Given the description of an element on the screen output the (x, y) to click on. 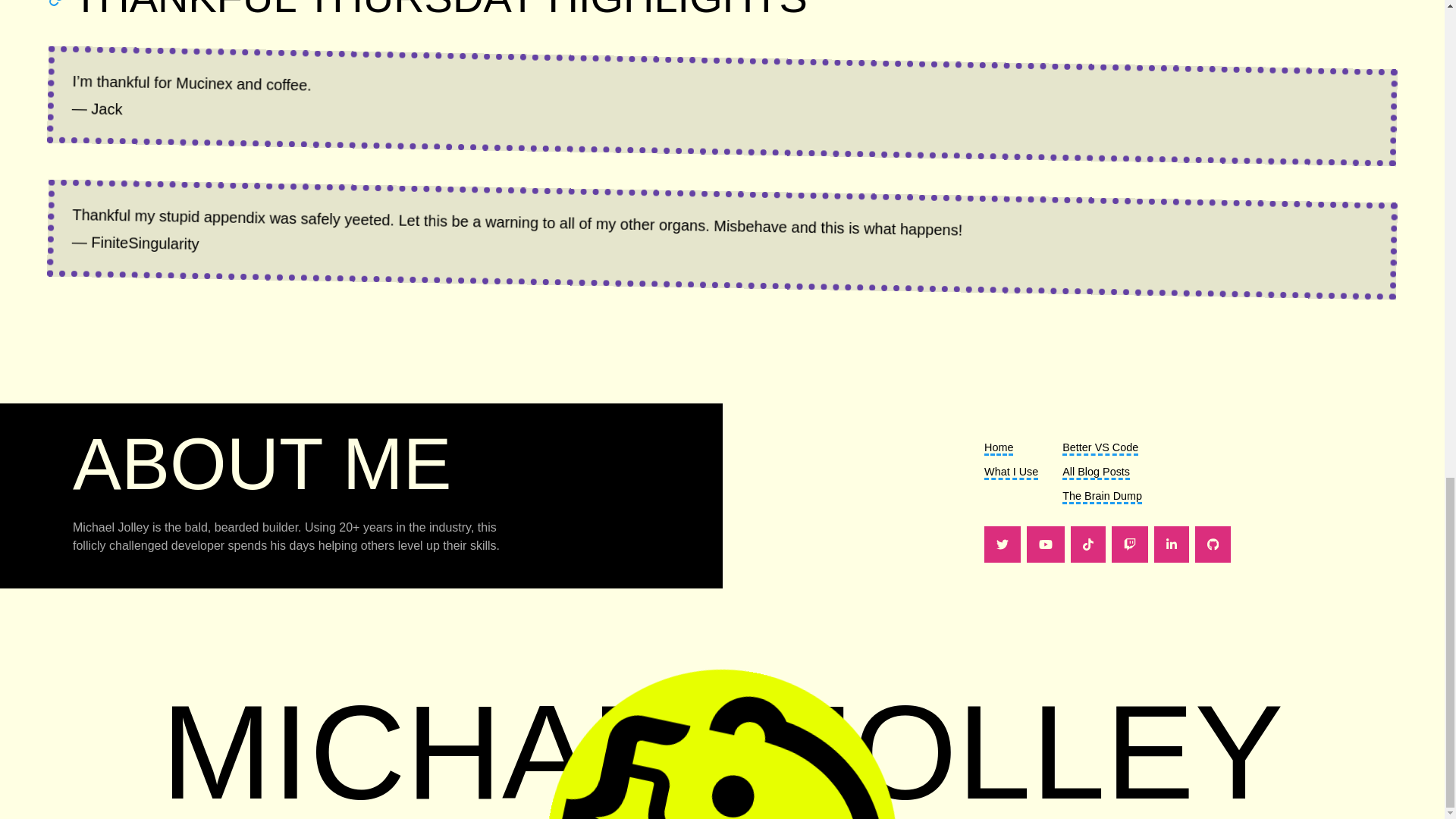
Yeah. I write code. (1213, 544)
PERMALINK (60, 3)
Better VS Code (1100, 448)
Copy link to clipboard (60, 3)
Check out the live streams on Twitch (1130, 544)
What I Use (1011, 472)
Home (998, 448)
Check out TikTok (1087, 544)
Let's get professional on LinkedIn (1171, 544)
Follow the musings on Twitter (1002, 544)
The Brain Dump (1101, 496)
All Blog Posts (1095, 472)
